Given the description of an element on the screen output the (x, y) to click on. 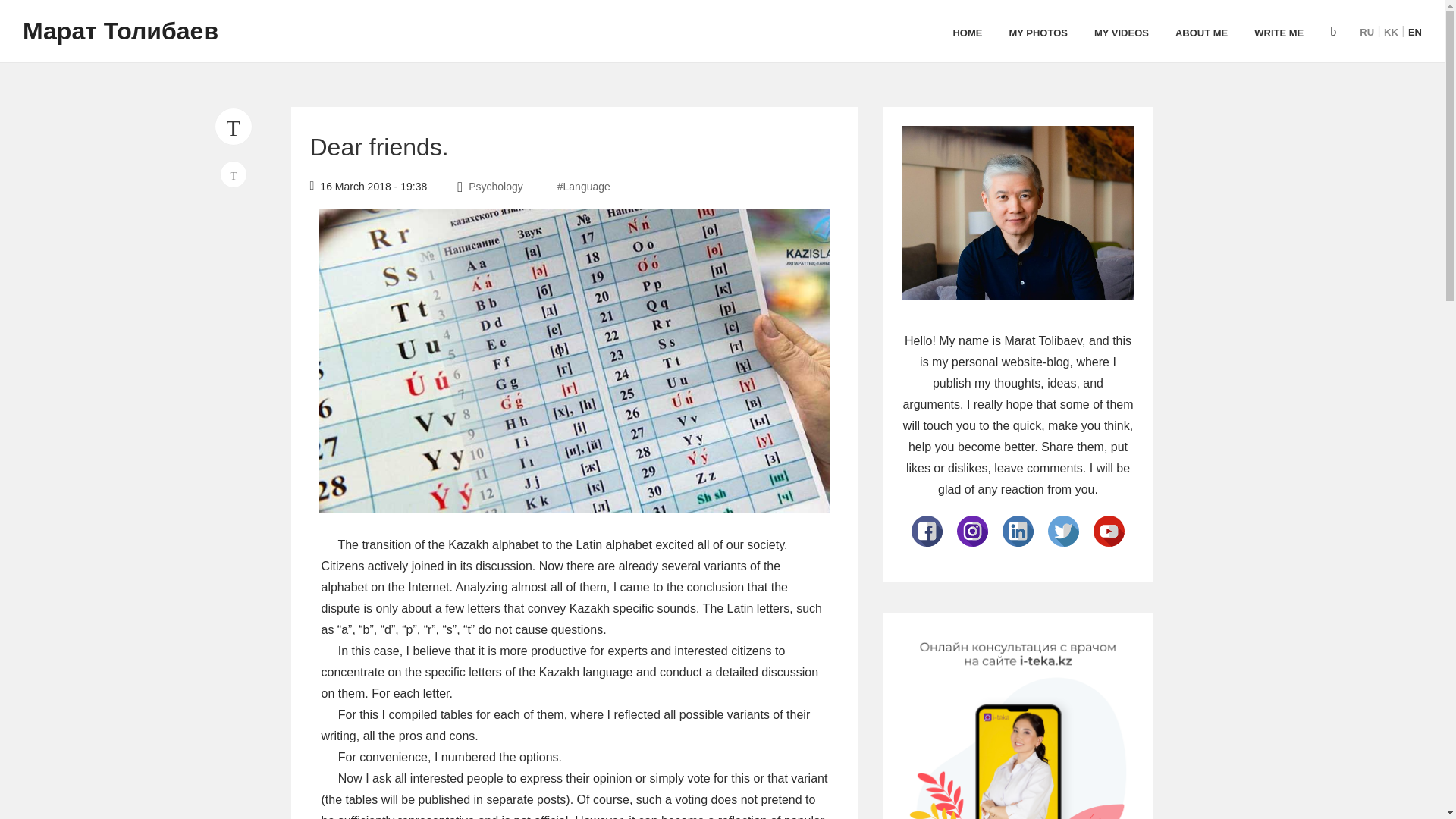
ABOUT ME (1200, 33)
WRITE ME (1278, 33)
T (232, 126)
HOME (966, 33)
MY VIDEOS (1121, 33)
MY PHOTOS (1038, 33)
Psychology (497, 186)
T (233, 174)
